Given the description of an element on the screen output the (x, y) to click on. 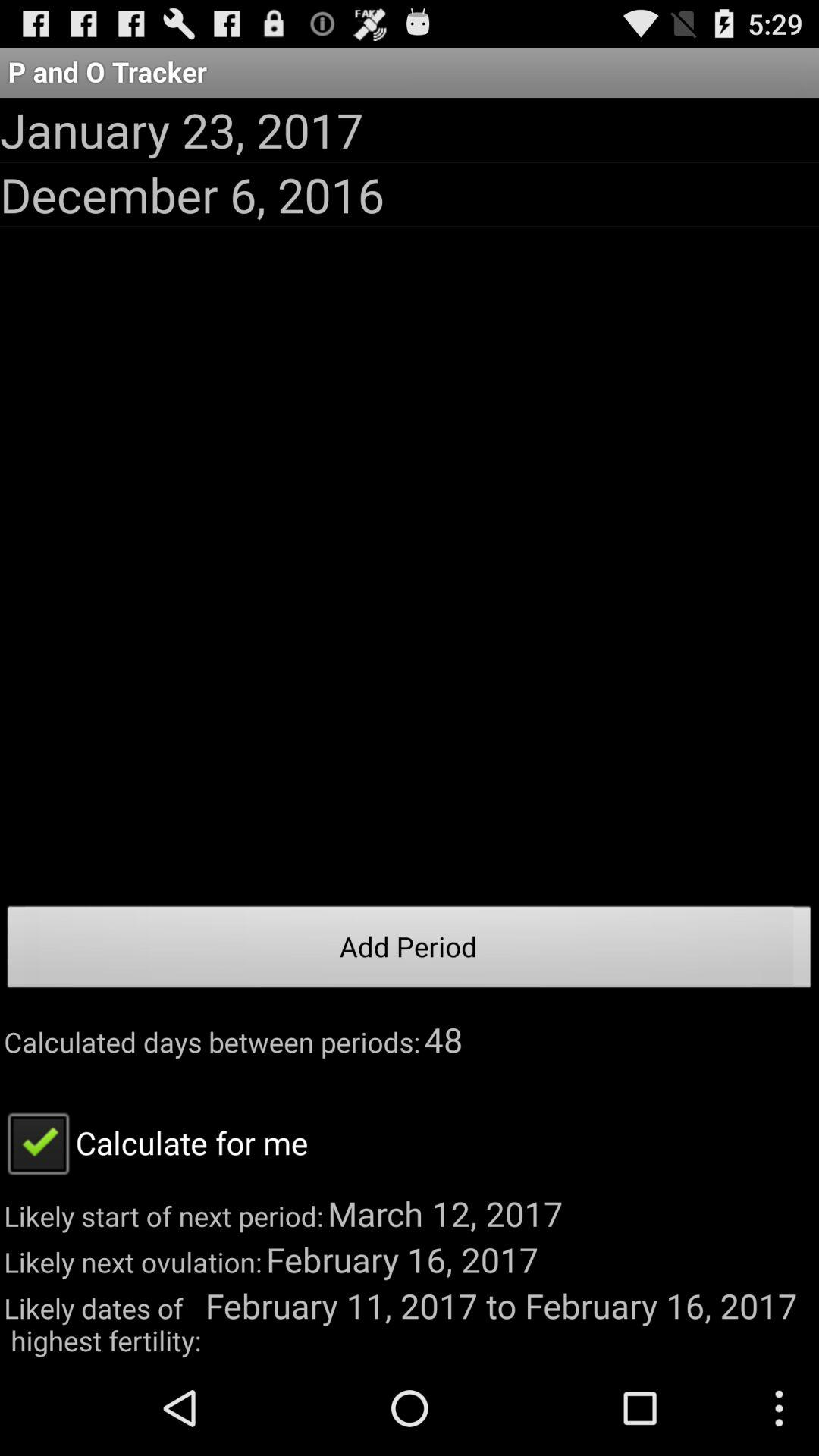
flip until calculate for me (154, 1142)
